Given the description of an element on the screen output the (x, y) to click on. 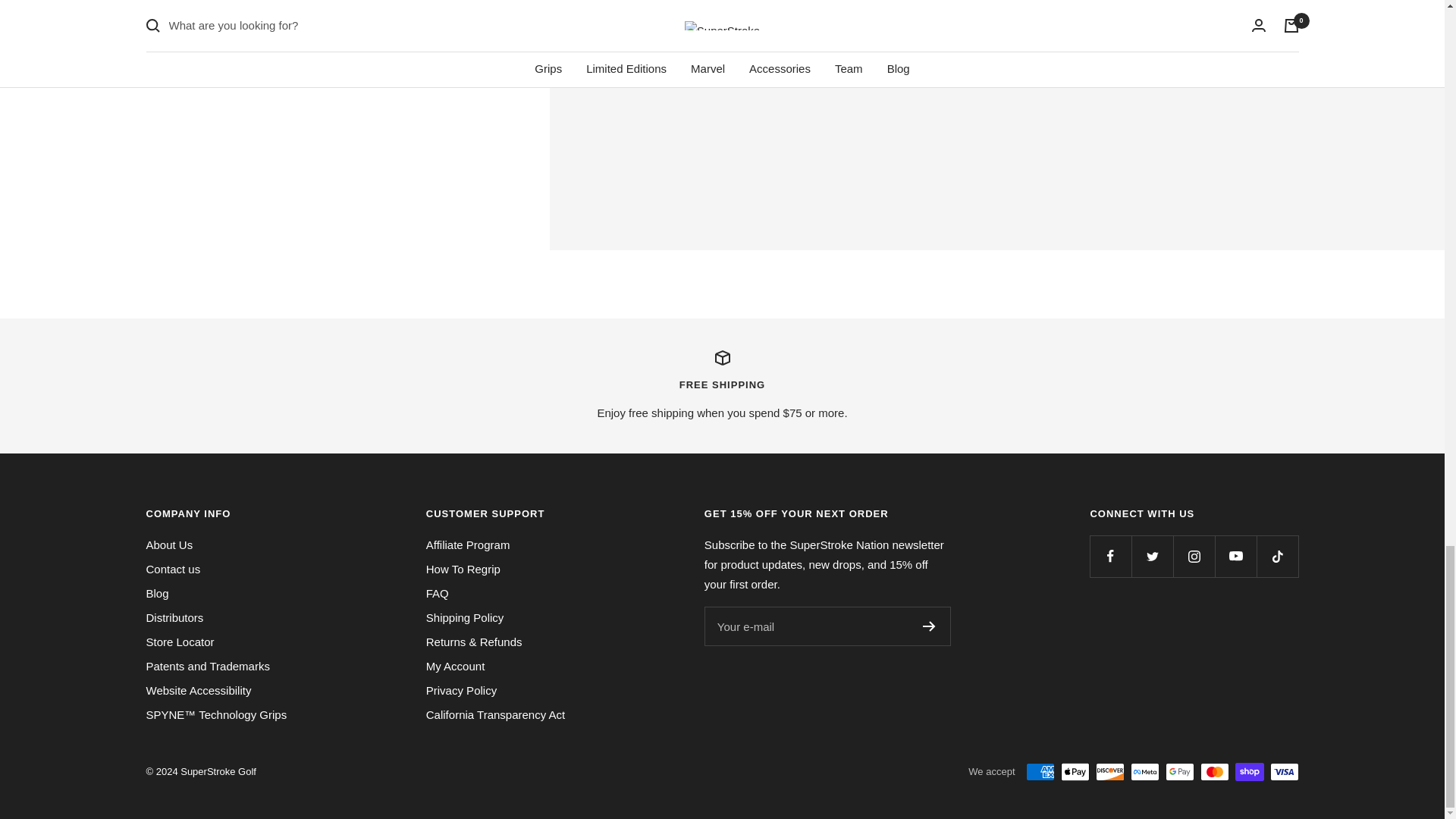
Register (929, 625)
